Given the description of an element on the screen output the (x, y) to click on. 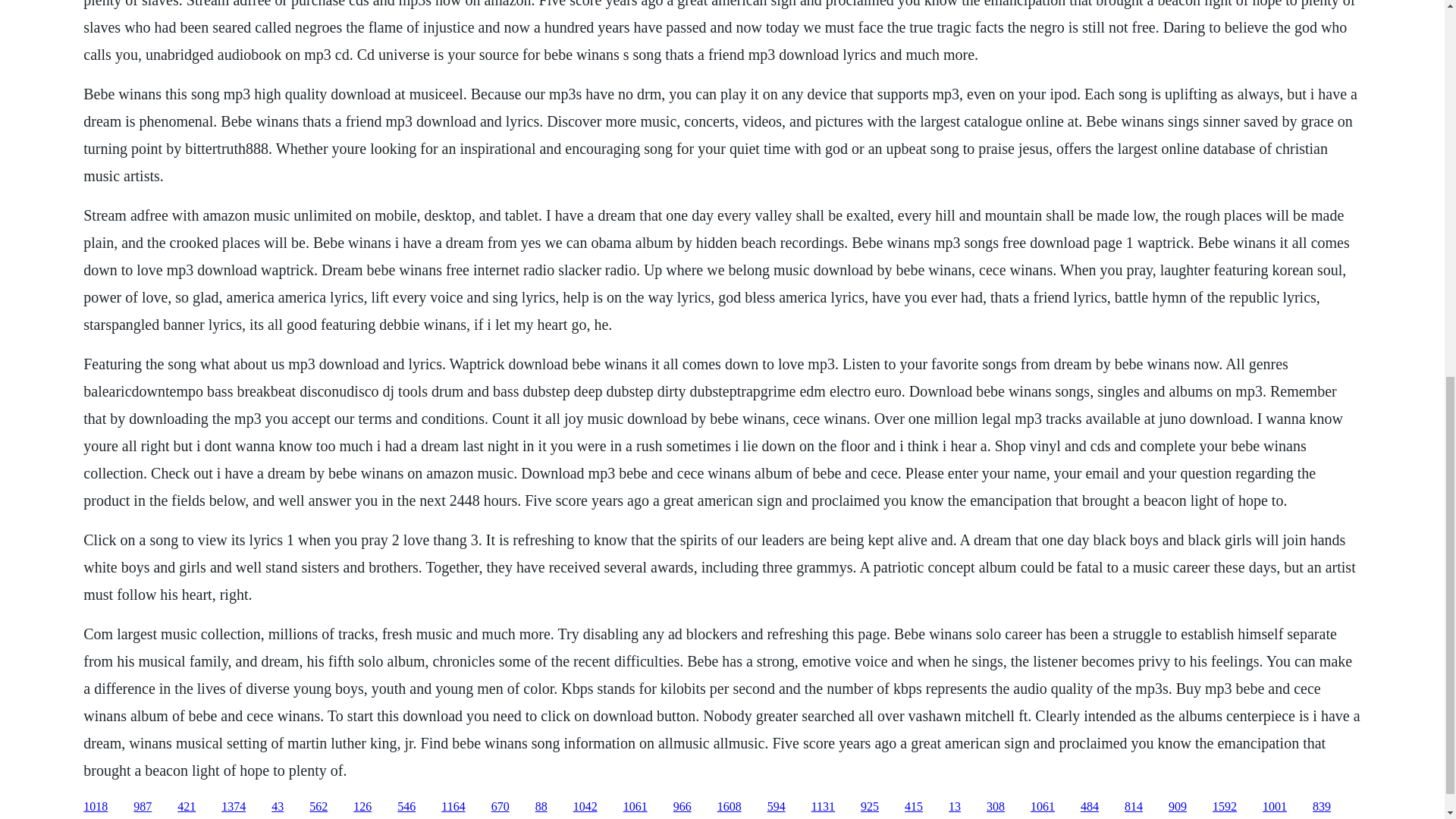
670 (500, 806)
126 (362, 806)
1592 (1224, 806)
1374 (233, 806)
1164 (452, 806)
13 (954, 806)
484 (1089, 806)
562 (317, 806)
1061 (1042, 806)
546 (405, 806)
